Given the description of an element on the screen output the (x, y) to click on. 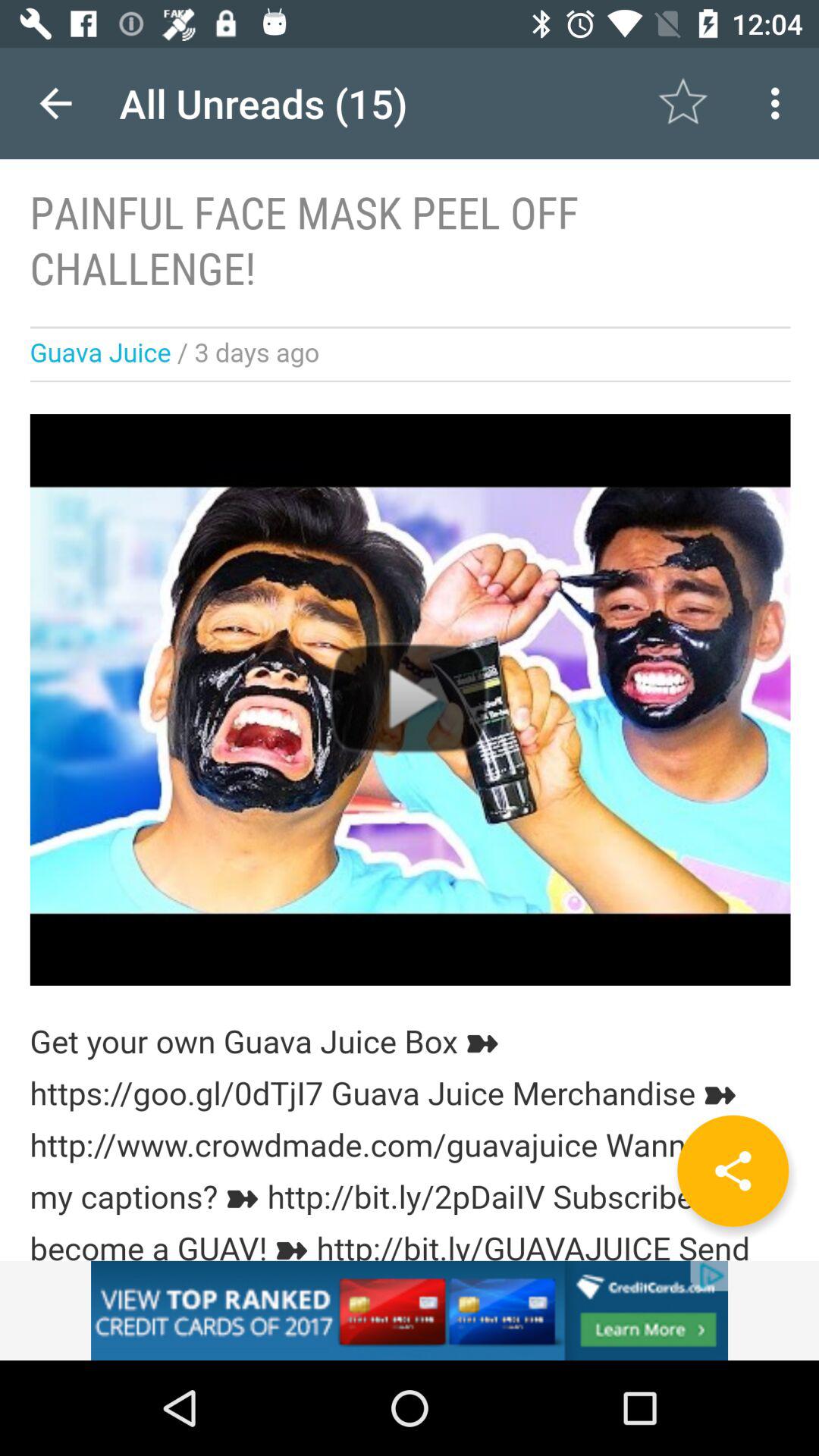
share the image (733, 1171)
